Given the description of an element on the screen output the (x, y) to click on. 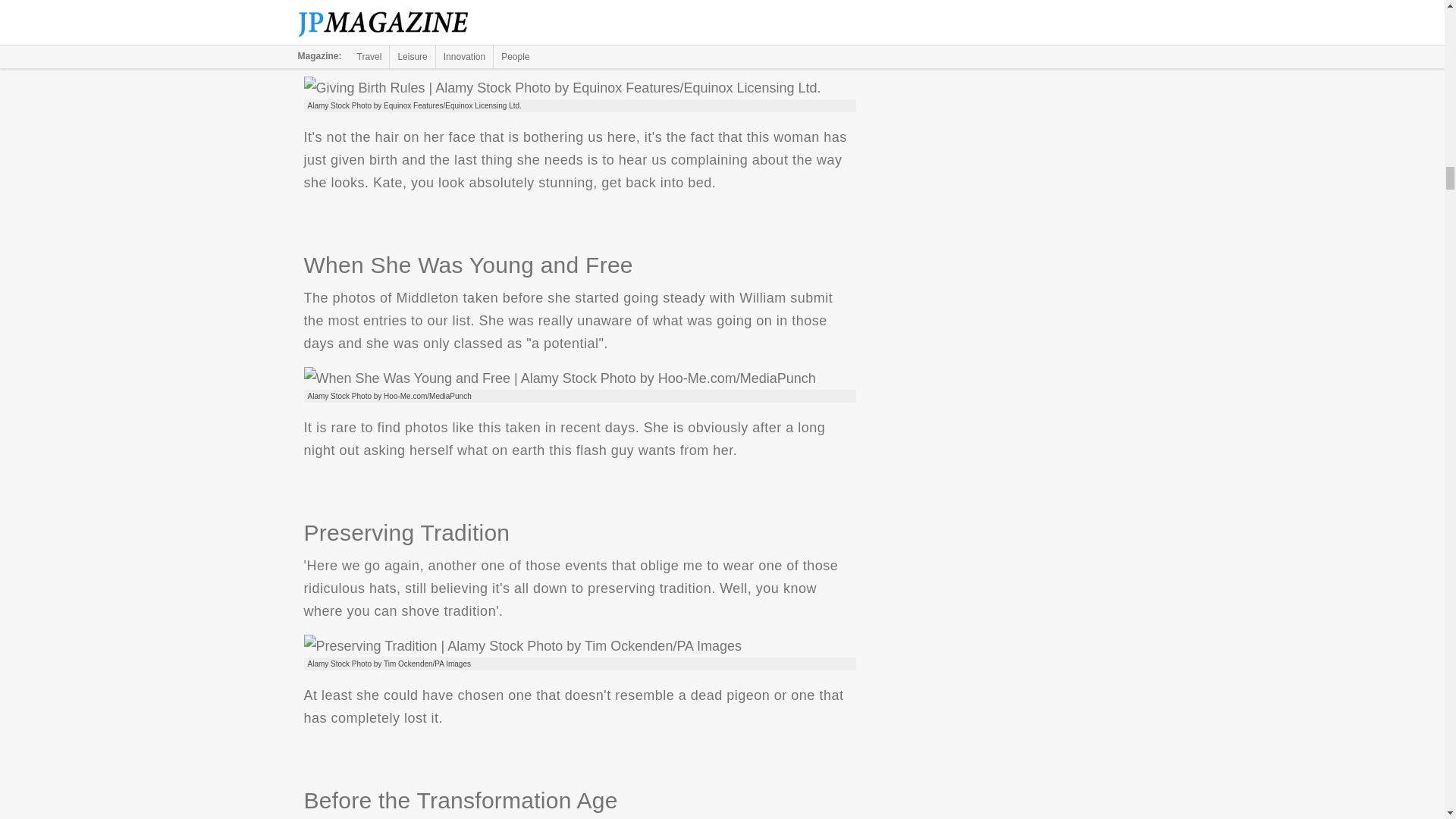
Giving Birth Rules (561, 87)
Preserving Tradition (521, 645)
When She Was Young and Free (558, 377)
